Given the description of an element on the screen output the (x, y) to click on. 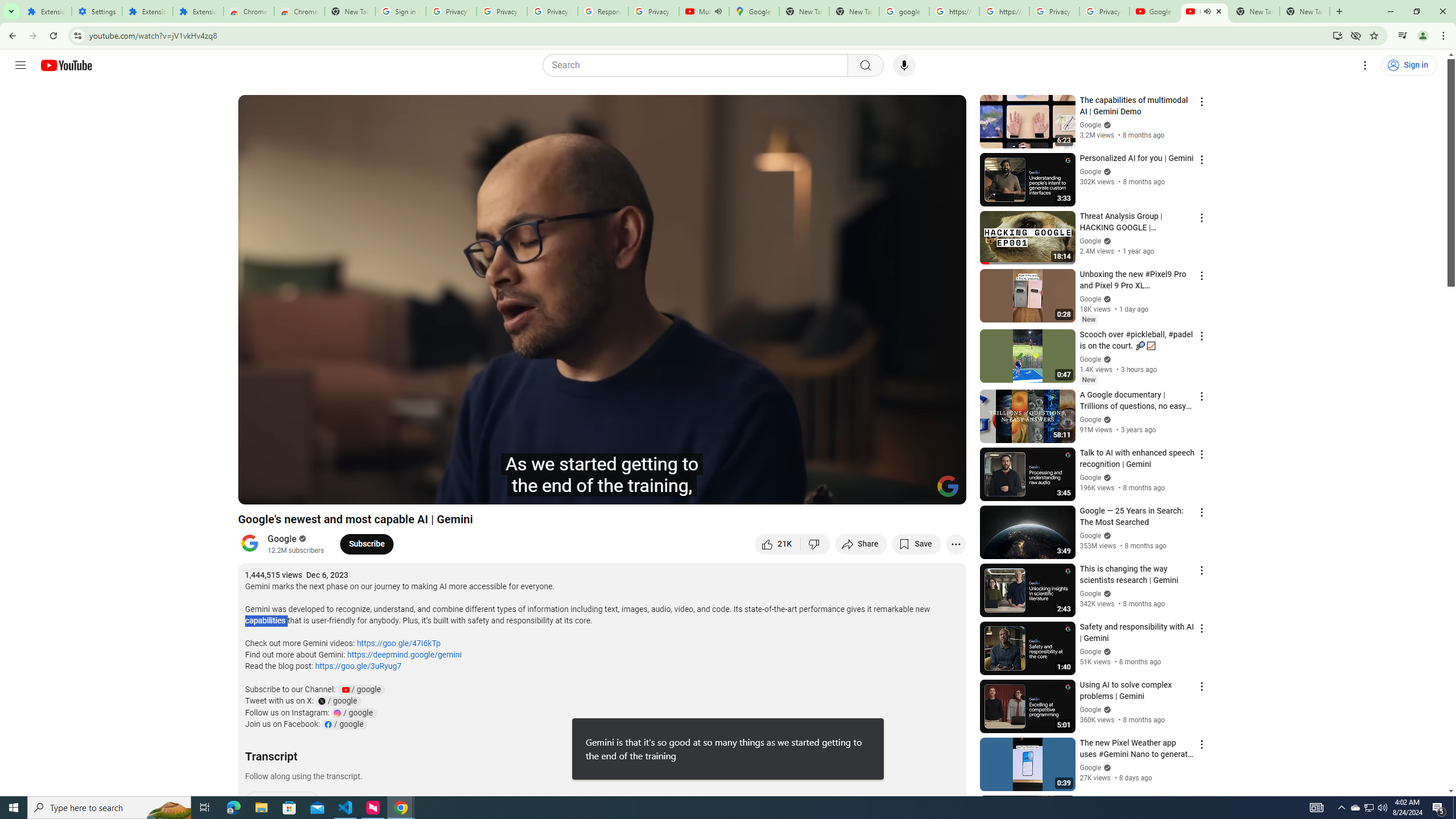
Next (SHIFT+n) (284, 490)
Channel watermark (947, 486)
More actions (955, 543)
Google - YouTube (1154, 11)
YouTube Channel Link: google (360, 689)
Extensions (46, 11)
New Tab (350, 11)
Channel watermark (947, 486)
